Given the description of an element on the screen output the (x, y) to click on. 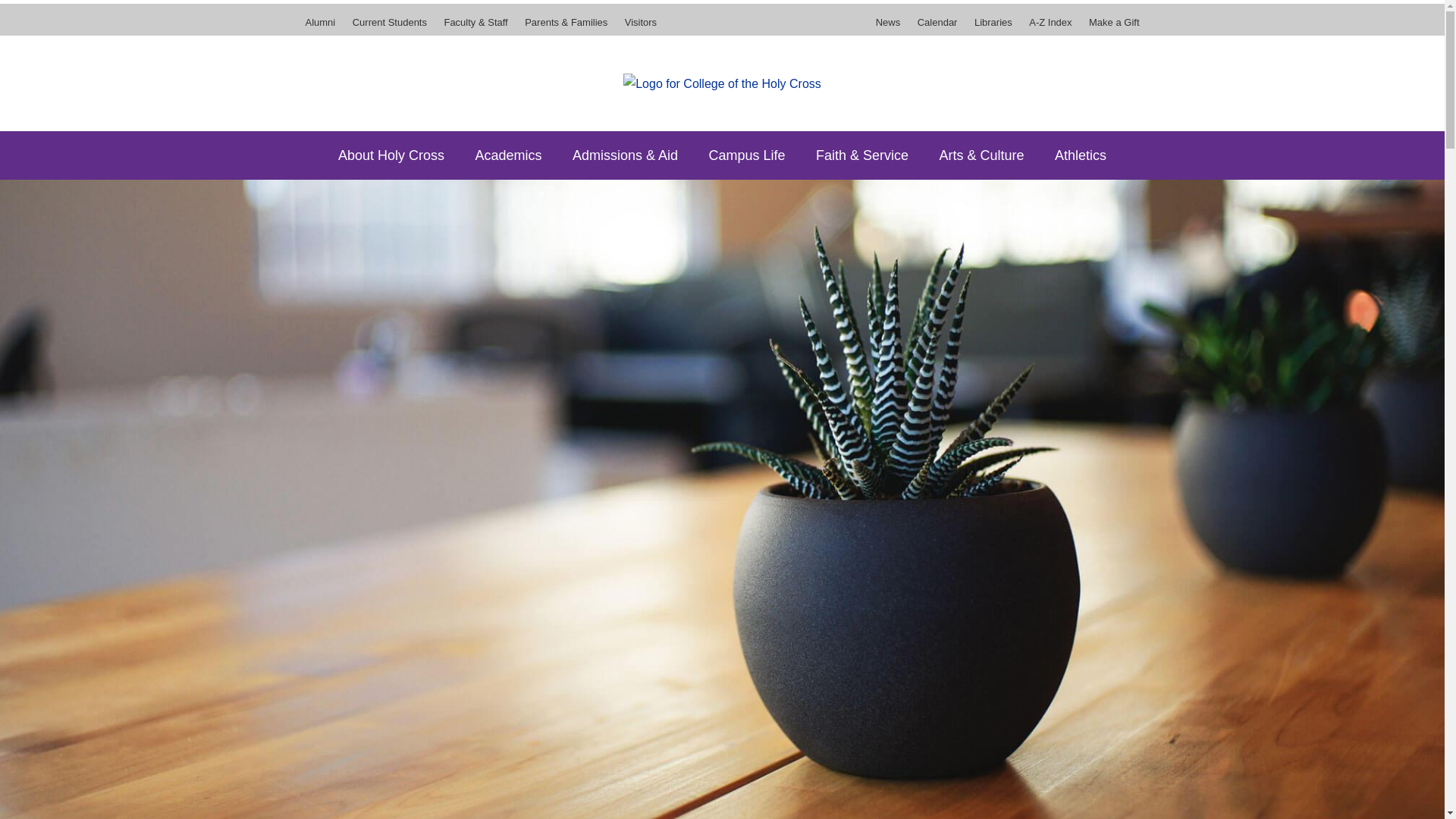
A-Z Index (1050, 27)
Make a Gift (1109, 27)
Academics (507, 155)
College of the Holy Cross Home (722, 83)
News (891, 27)
Alumni (323, 27)
Visitors (636, 27)
About Holy Cross (391, 155)
Calendar (937, 27)
Current Students (389, 27)
Libraries (993, 27)
